Given the description of an element on the screen output the (x, y) to click on. 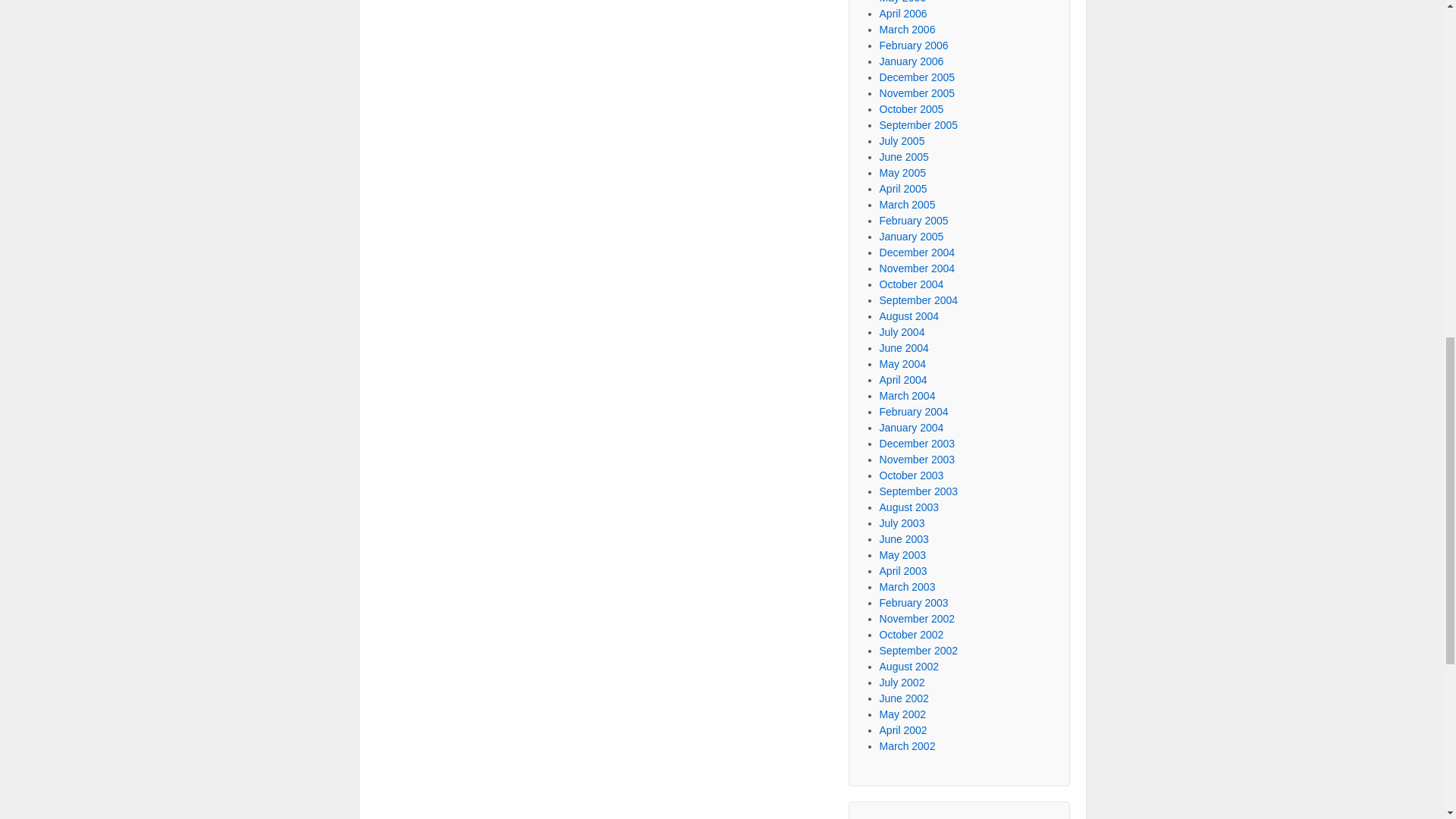
March 2006 (907, 29)
April 2006 (903, 13)
May 2006 (902, 2)
